Given the description of an element on the screen output the (x, y) to click on. 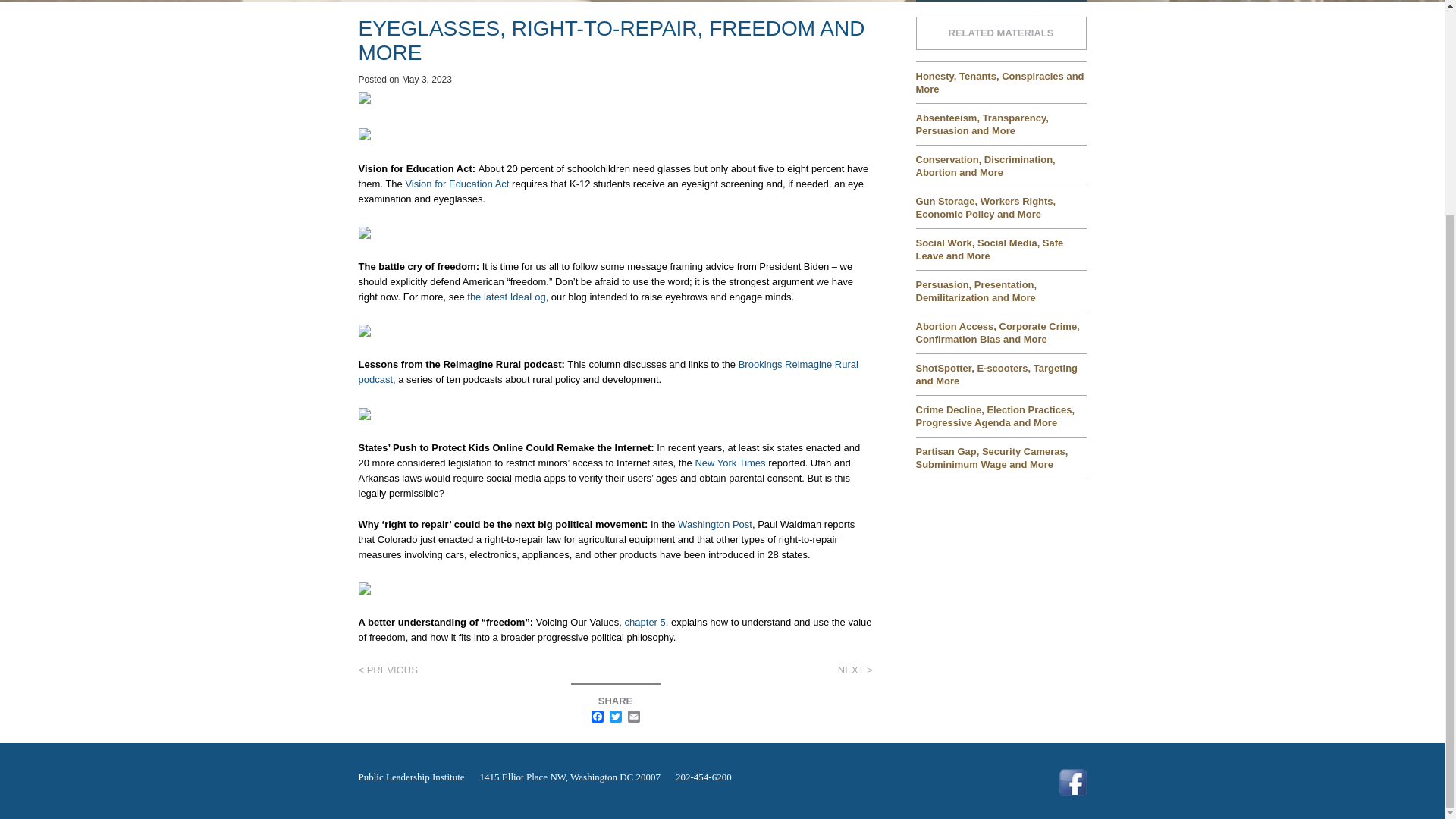
Conservation, Discrimination, Abortion and More (1000, 165)
Social Work, Social Media, Safe Leave and More (1000, 249)
Persuasion, Presentation, Demilitarization and More (1000, 290)
Partisan Gap, Security Cameras, Subminimum Wage and More (1000, 456)
EMAIL (633, 717)
the latest IdeaLog (505, 296)
Abortion Access, Corporate Crime, Confirmation Bias and More (1000, 332)
New York Times (729, 462)
ShotSpotter, E-scooters, Targeting and More (1000, 372)
Vision for Education Act (456, 183)
Facebook (597, 717)
FACEBOOK (597, 717)
TWITTER (615, 717)
Contact (1000, 3)
